Given the description of an element on the screen output the (x, y) to click on. 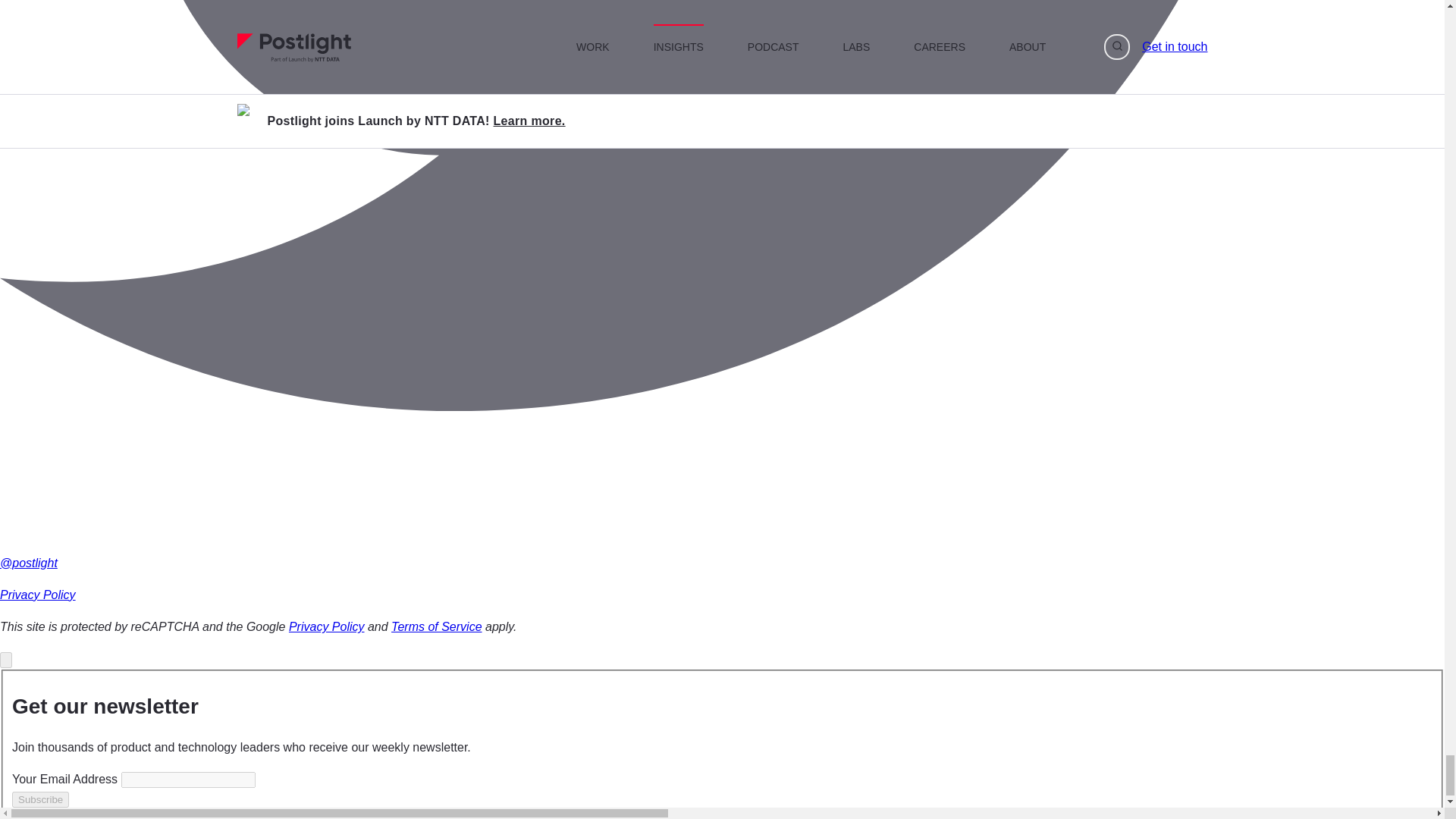
Subscribe (39, 799)
